Given the description of an element on the screen output the (x, y) to click on. 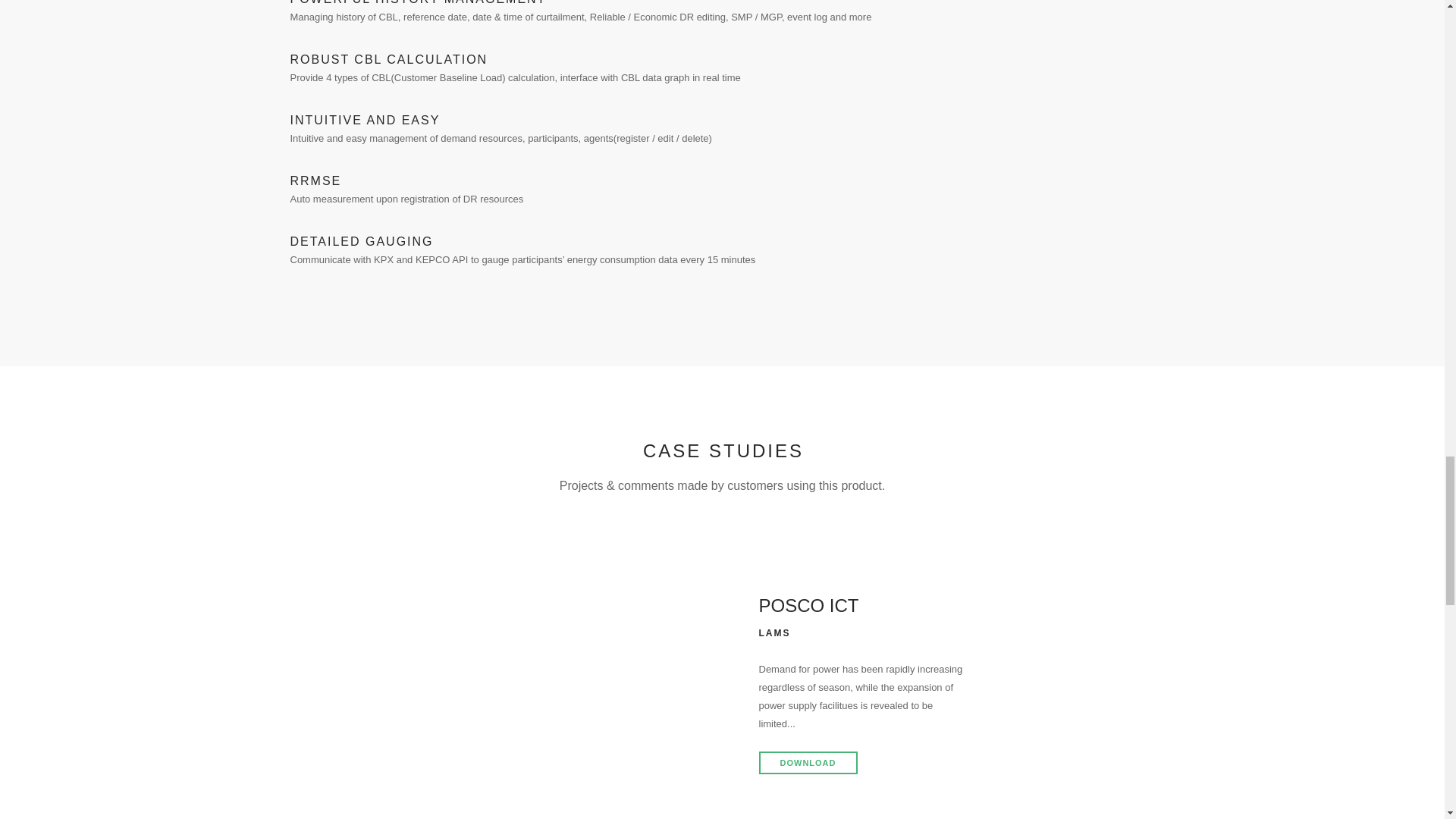
DOWNLOAD (807, 762)
